Given the description of an element on the screen output the (x, y) to click on. 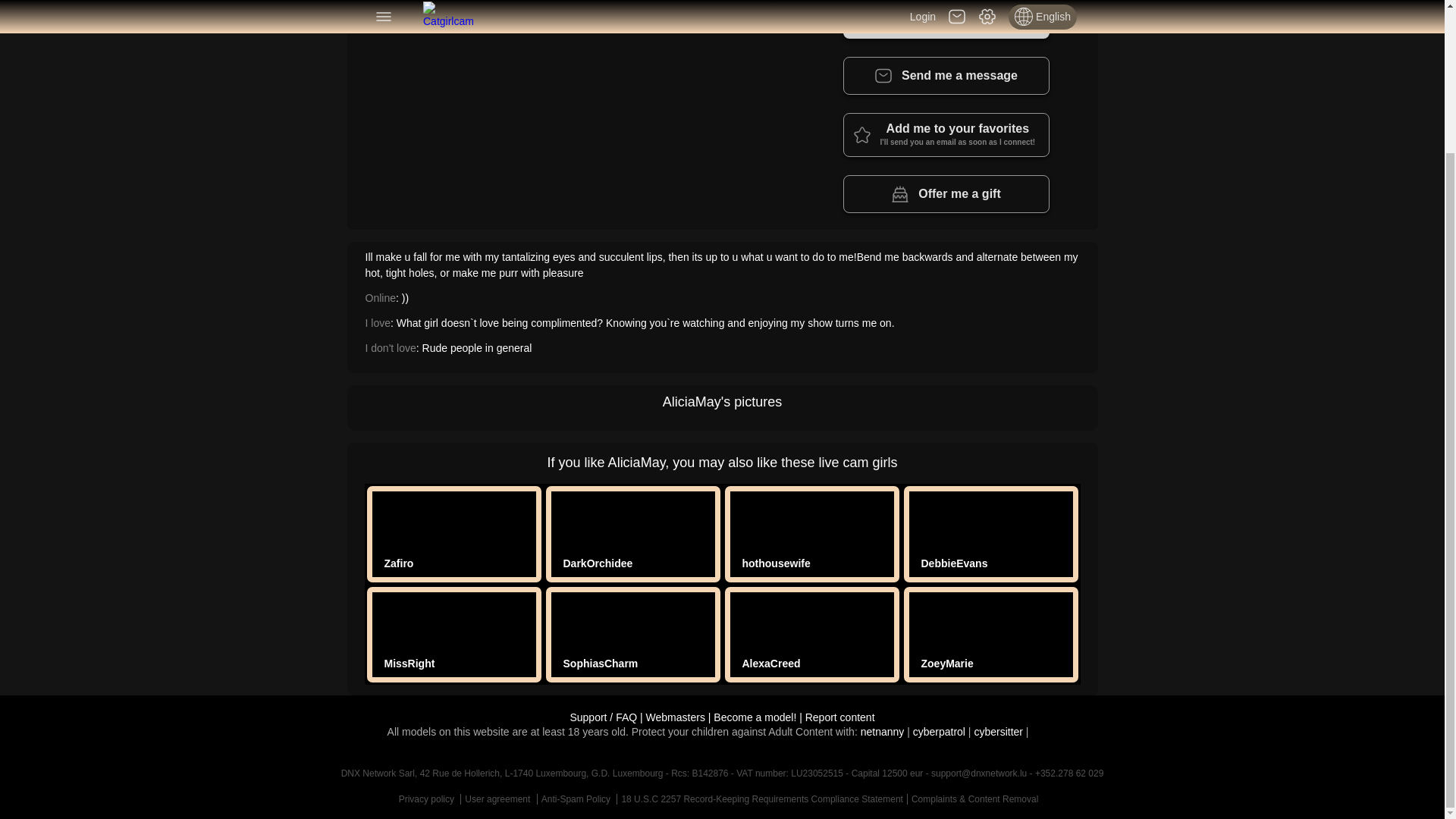
Zafiro (398, 563)
DarkOrchidee (946, 19)
Offer me a gift (597, 563)
hothousewife (946, 193)
DebbieEvans (775, 563)
Send me a message (953, 563)
